Given the description of an element on the screen output the (x, y) to click on. 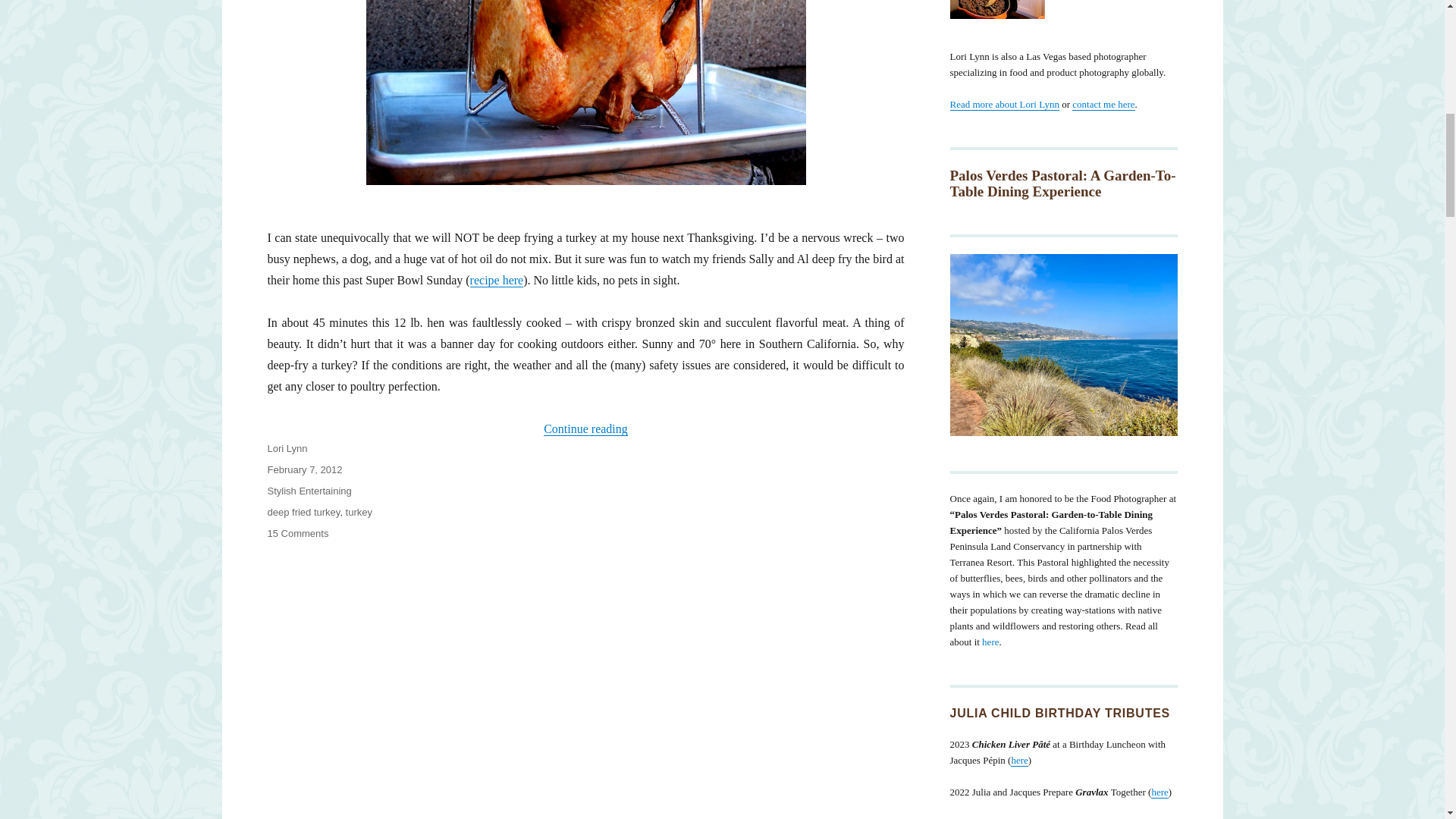
here (1159, 791)
turkey (359, 511)
Stylish Entertaining (297, 532)
February 7, 2012 (308, 490)
here (304, 469)
here (989, 641)
Read more about Lori Lynn (1018, 759)
deep fried turkey (1003, 103)
Lori Lynn (302, 511)
